Given the description of an element on the screen output the (x, y) to click on. 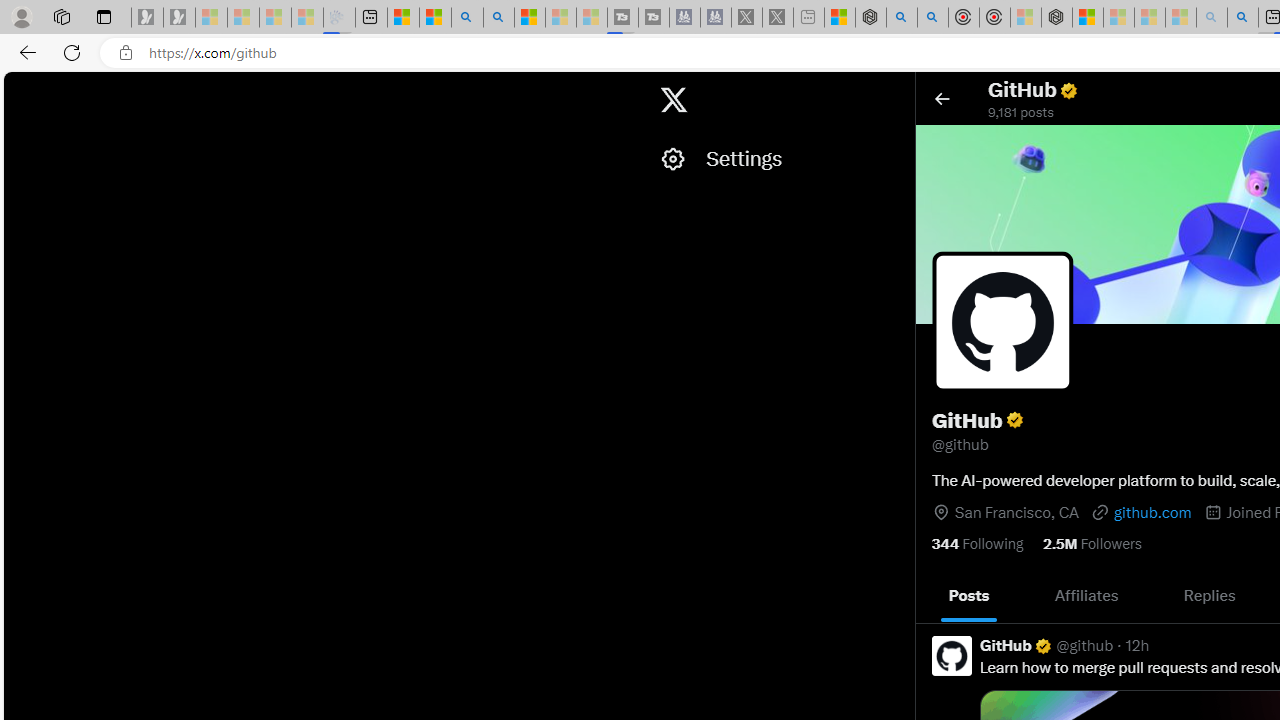
X - Sleeping (777, 17)
Replies (1209, 595)
poe - Search (901, 17)
github.com (1140, 512)
Microsoft Start - Sleeping (560, 17)
